Given the description of an element on the screen output the (x, y) to click on. 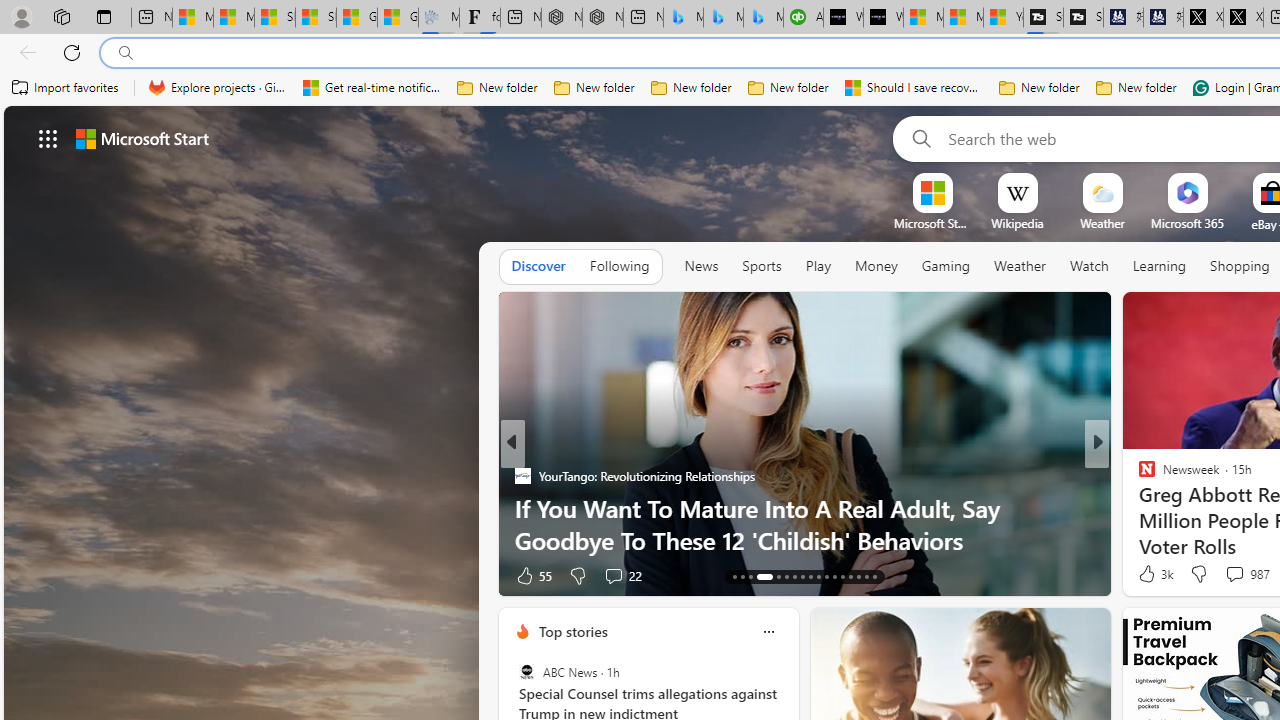
View comments 251 Comment (619, 575)
View comments 18 Comment (1244, 574)
POLITICO (1138, 475)
View comments 2 Comment (1229, 575)
Class: icon-img (768, 632)
FOX News (1138, 475)
432 Like (1151, 574)
AutomationID: tab-18 (786, 576)
Newsweek (1138, 475)
AutomationID: tab-26 (850, 576)
12 Like (1149, 574)
ABC News (526, 672)
Why the GOP is no longer denying climate change (804, 539)
158 Like (535, 574)
